Given the description of an element on the screen output the (x, y) to click on. 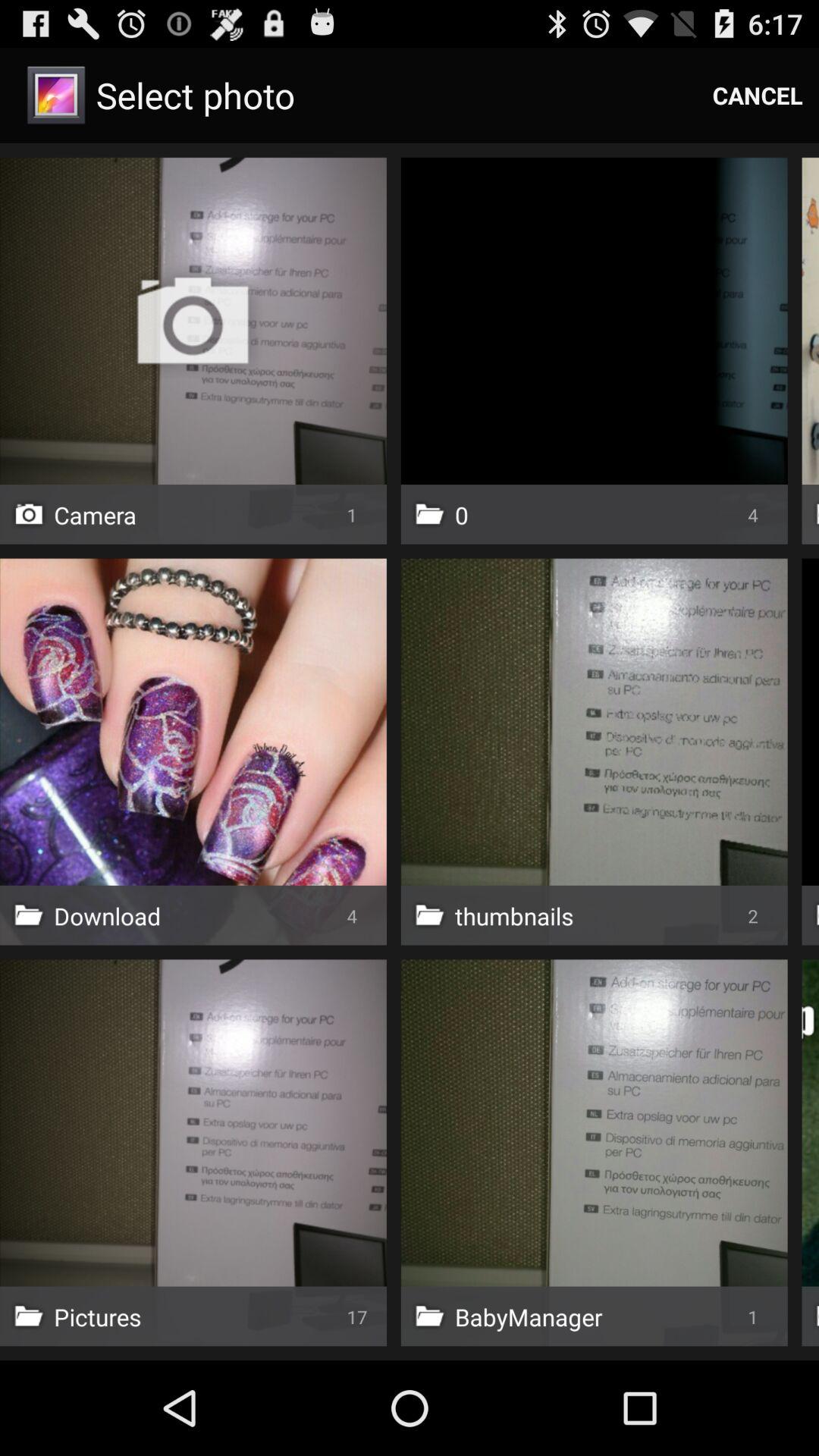
swipe to the cancel (757, 95)
